Given the description of an element on the screen output the (x, y) to click on. 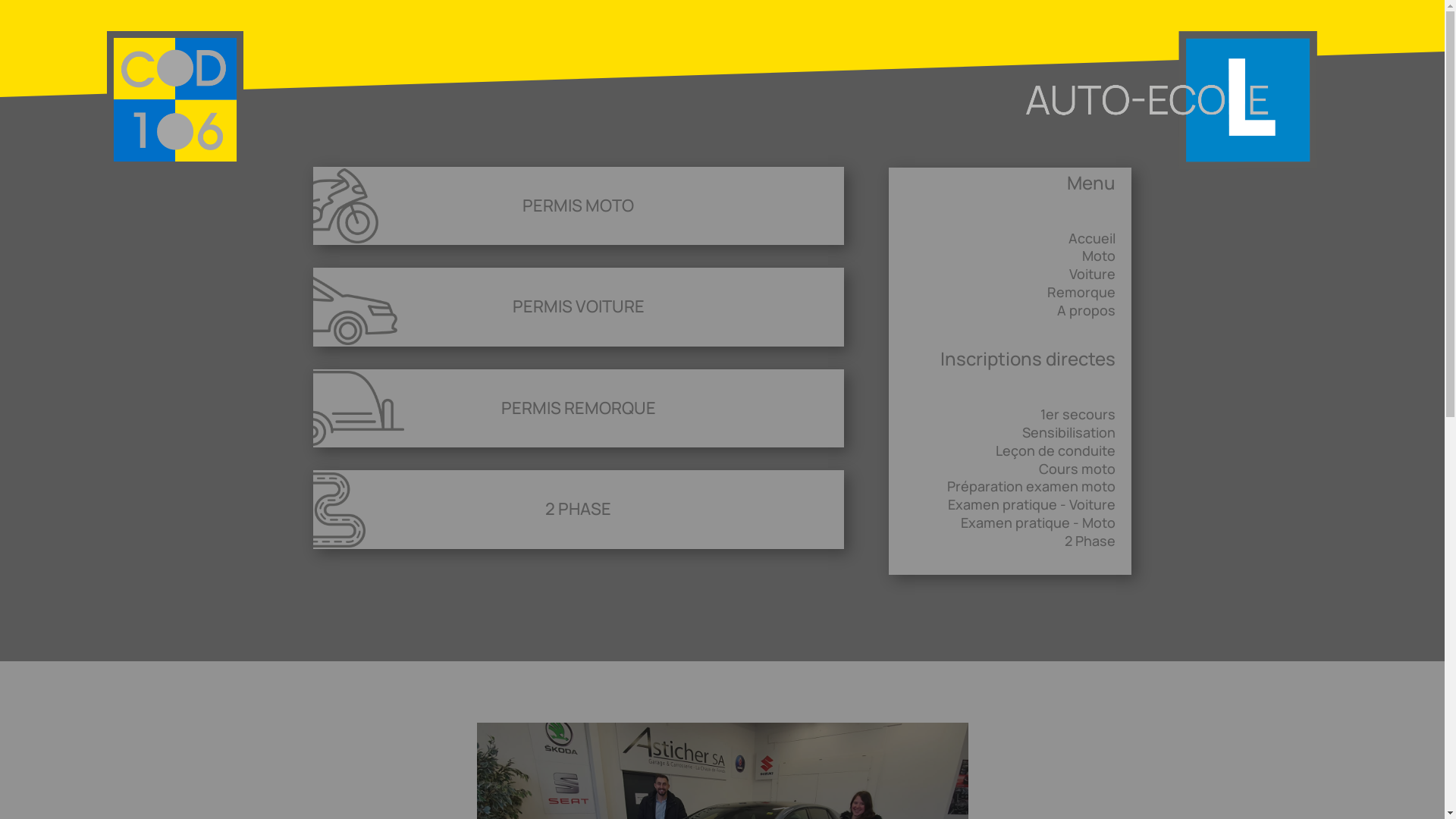
Voiture Element type: text (1092, 273)
Accueil Element type: text (1091, 238)
Fichier 7 Element type: hover (1170, 100)
COD106_LOGO_Fond gris_gris clair Element type: hover (174, 99)
Cours moto Element type: text (1076, 468)
A propos Element type: text (1086, 310)
Examen pratique - Moto Element type: text (1037, 522)
Moto Element type: text (1098, 255)
1er secours Element type: text (1077, 413)
Examen pratique - Voiture Element type: text (1031, 504)
Remorque Element type: text (1081, 291)
2 Phase Element type: text (1089, 540)
Sensibilisation Element type: text (1068, 432)
